Given the description of an element on the screen output the (x, y) to click on. 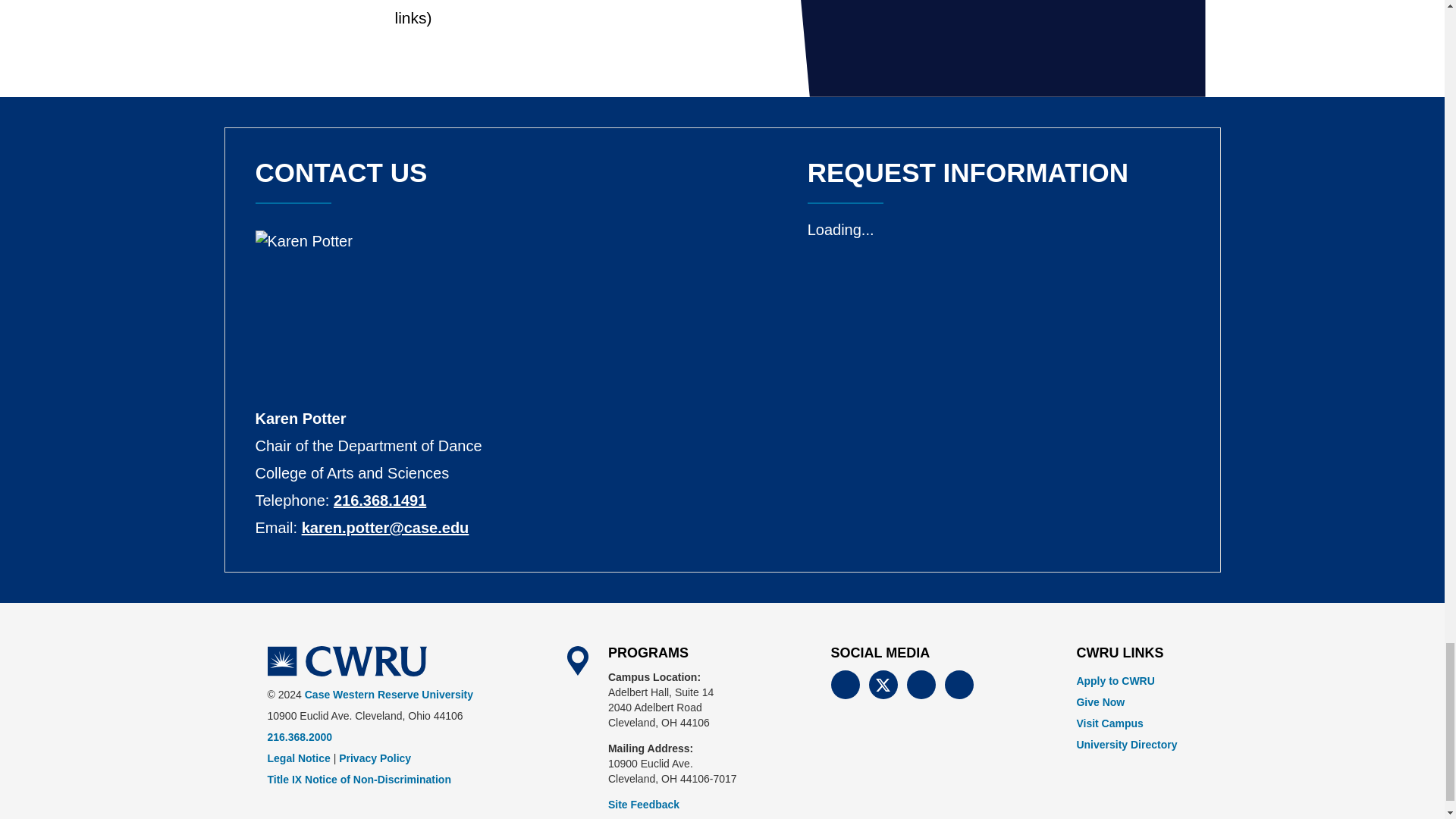
Twitter (883, 684)
Site Feedback (643, 804)
Instagram (959, 684)
Privacy Policy (374, 758)
Case Western Reserve University (388, 694)
216.368.2000 (298, 736)
University Directory (1125, 744)
CWRU Youtube (921, 684)
CWRU Facebook (845, 684)
CWRU Twitter (883, 684)
Case Western Reserve University (346, 661)
Facebook (845, 684)
Apply to CWRU (1114, 680)
Visit Campus (1108, 723)
Title IX Notice of Non-Discrimination (357, 779)
